Given the description of an element on the screen output the (x, y) to click on. 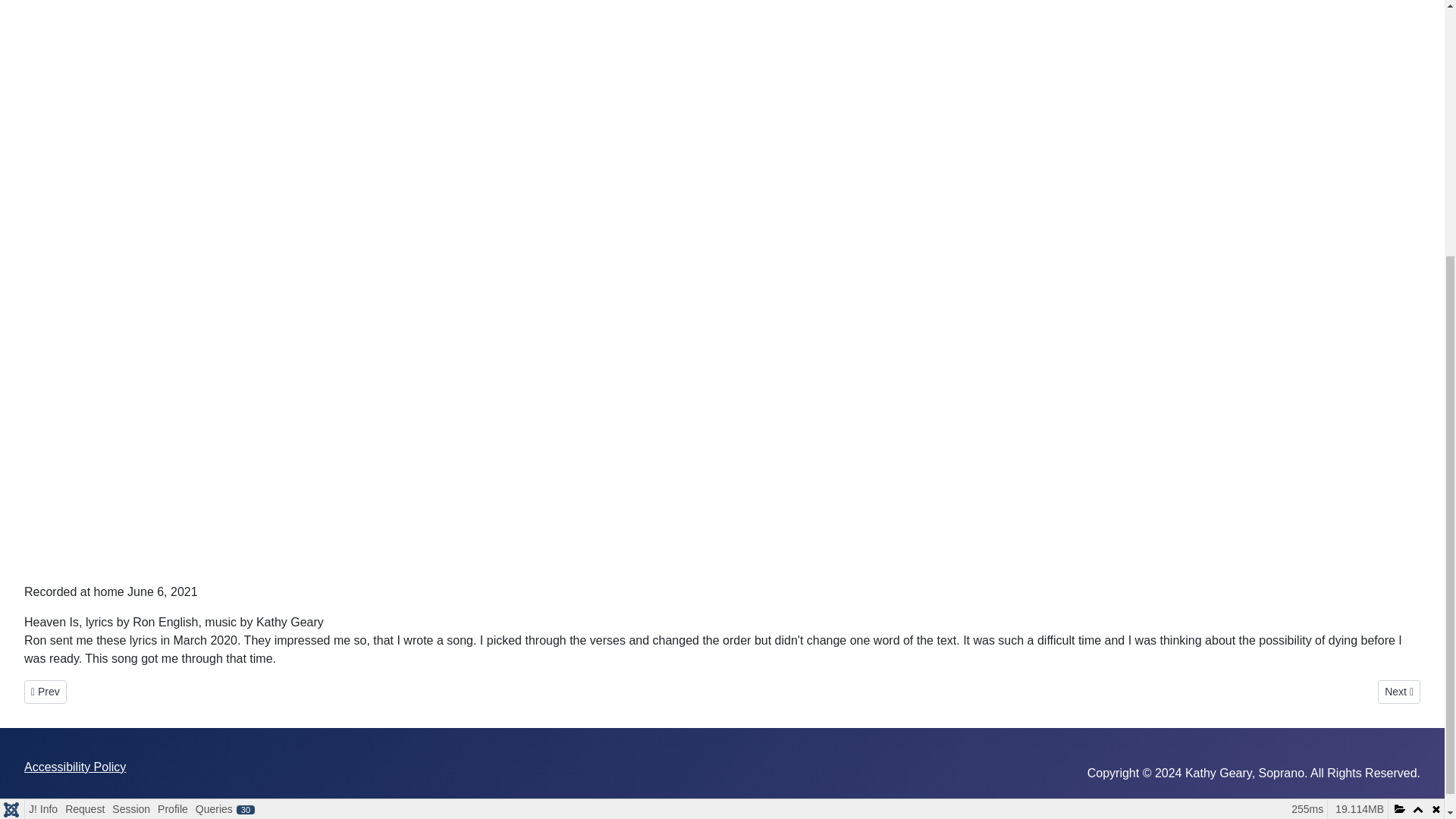
Request (84, 435)
Accessibility Policy (74, 766)
J! Info (42, 435)
Queries30 (225, 435)
Session (1399, 691)
Profile (130, 435)
